Given the description of an element on the screen output the (x, y) to click on. 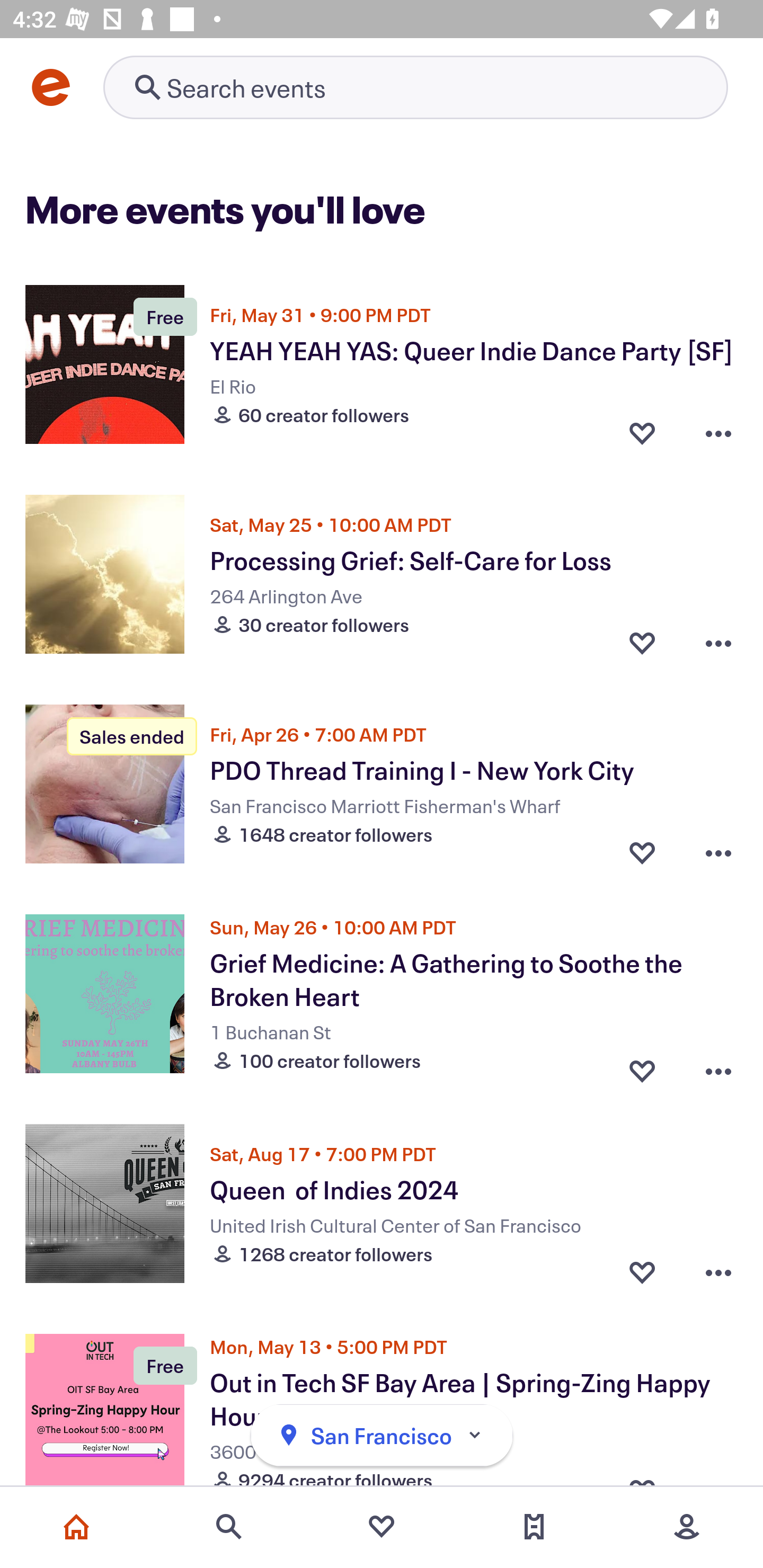
Retry's image Search events (415, 86)
Favorite button (642, 431)
Overflow menu button (718, 431)
Favorite button (642, 641)
Overflow menu button (718, 641)
Favorite button (642, 852)
Overflow menu button (718, 852)
Favorite button (642, 1066)
Overflow menu button (718, 1066)
Favorite button (642, 1271)
Overflow menu button (718, 1271)
San Francisco (381, 1435)
Home (76, 1526)
Search events (228, 1526)
Favorites (381, 1526)
Tickets (533, 1526)
More (686, 1526)
